Given the description of an element on the screen output the (x, y) to click on. 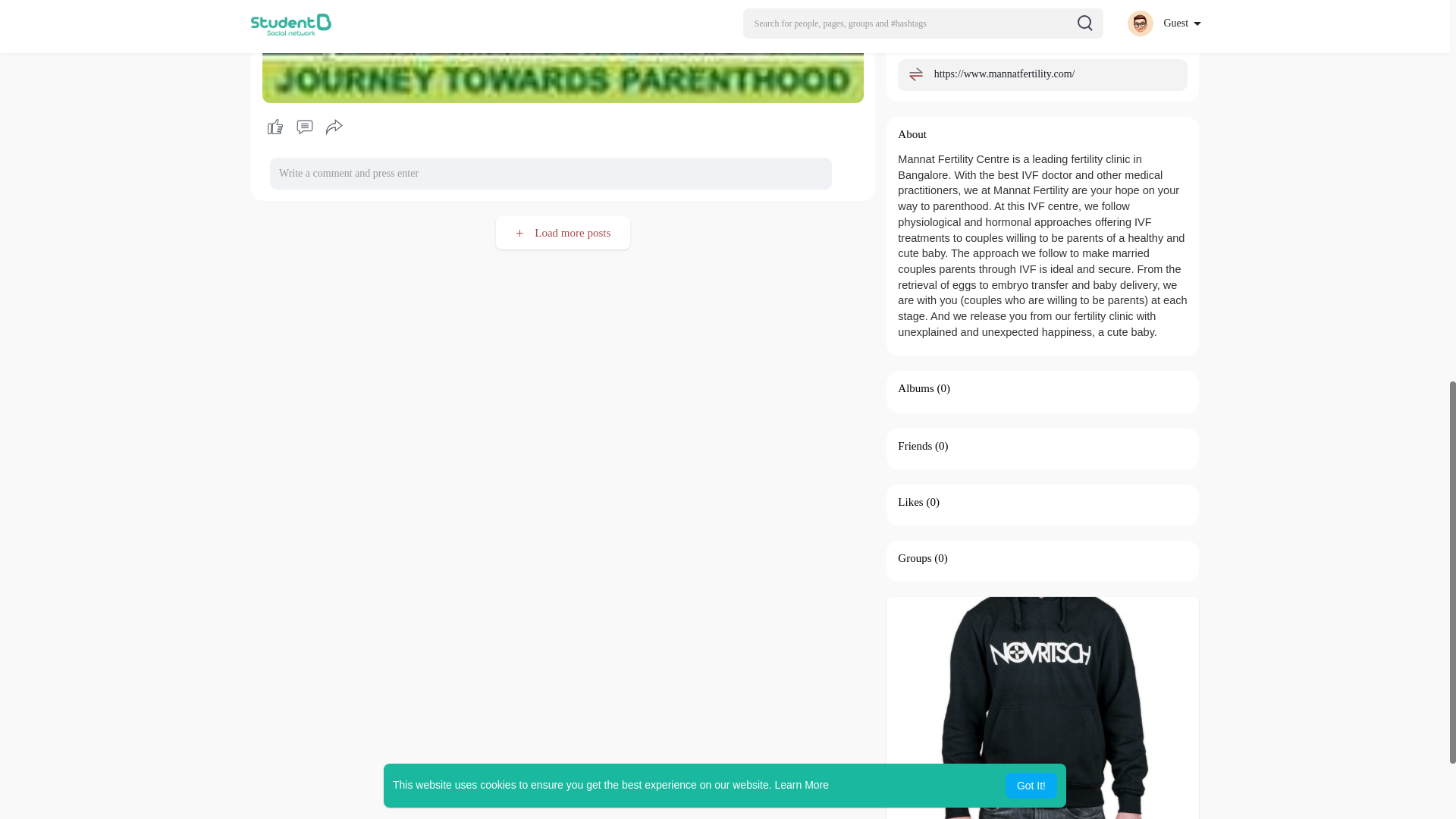
Share (334, 127)
Comments (304, 127)
Friends (914, 445)
Likes (910, 501)
Groups (914, 558)
Albums (916, 387)
